Given the description of an element on the screen output the (x, y) to click on. 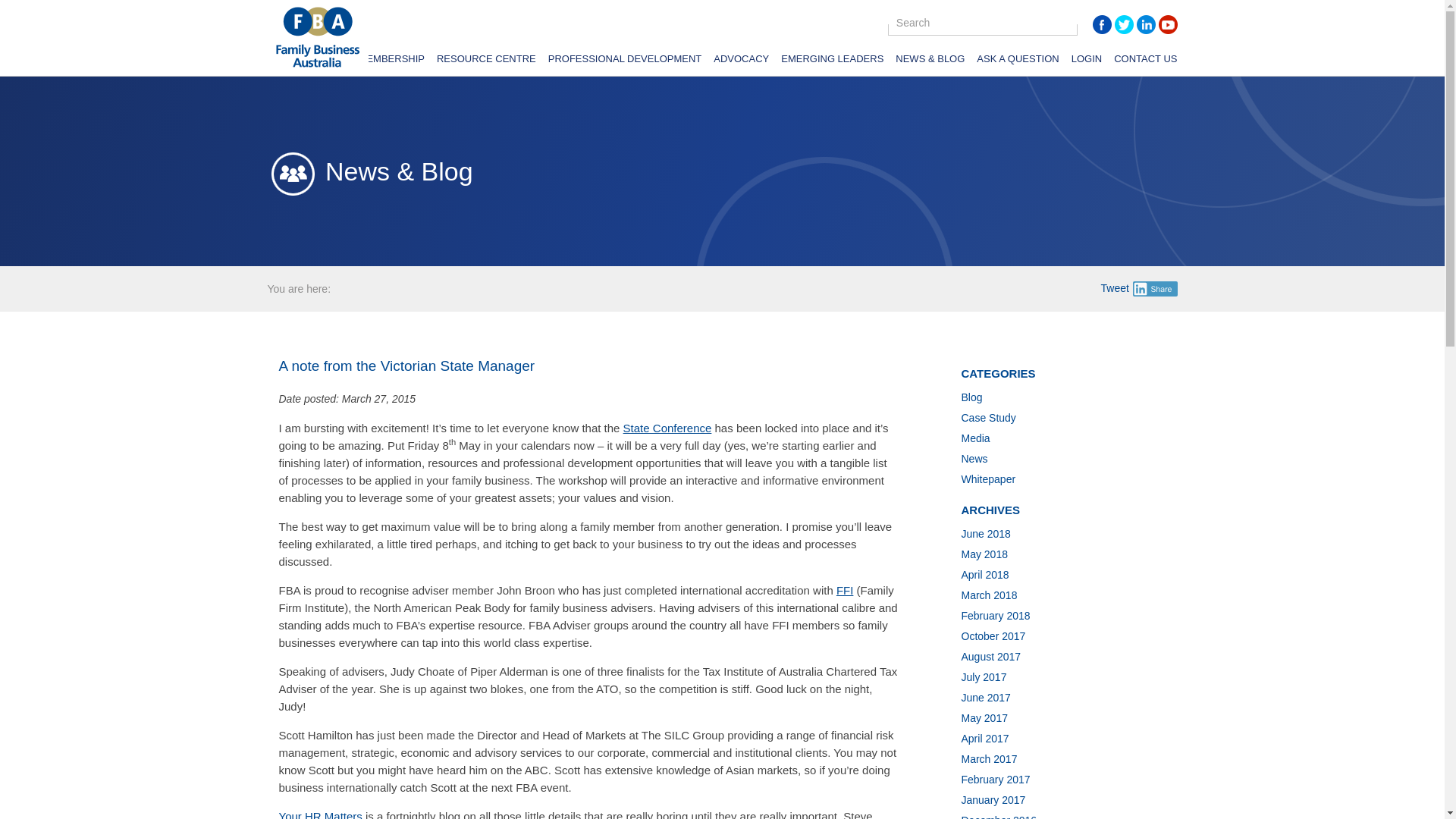
LOGIN (1086, 60)
MEMBERSHIP (391, 60)
ASK A QUESTION (1017, 60)
PROFESSIONAL DEVELOPMENT (624, 60)
ADVOCACY (740, 60)
EMERGING LEADERS (831, 60)
ABOUT US (320, 60)
RESOURCE CENTRE (485, 60)
